Given the description of an element on the screen output the (x, y) to click on. 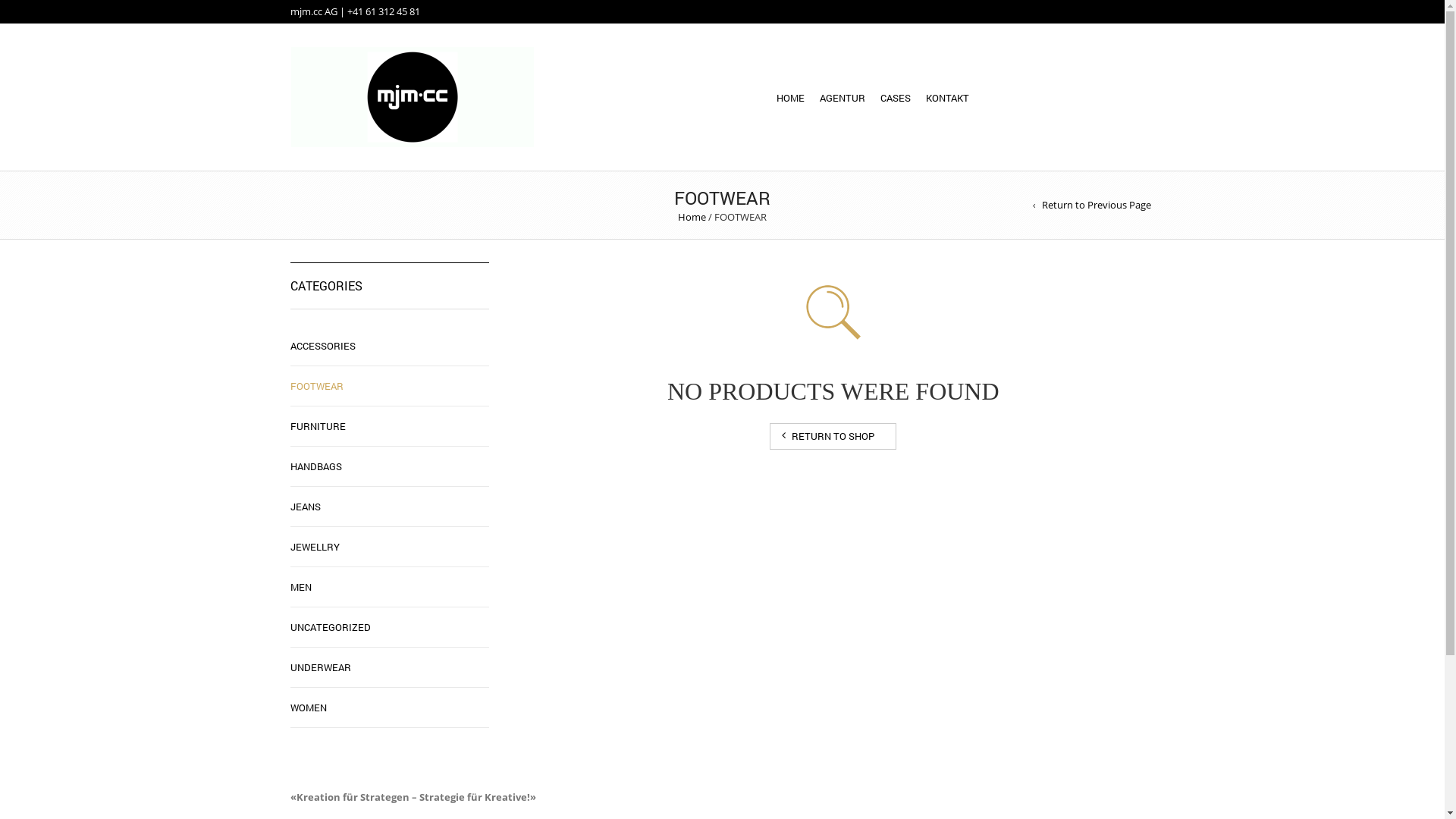
KONTAKT Element type: text (947, 101)
WOMEN Element type: text (307, 707)
RETURN TO SHOP Element type: text (832, 436)
UNDERWEAR Element type: text (319, 667)
JEANS Element type: text (304, 506)
Return to Previous Page Element type: text (1091, 204)
MEN Element type: text (299, 586)
ACCESSORIES Element type: text (321, 345)
Home Element type: text (691, 216)
JEWELLRY Element type: text (313, 546)
FOOTWEAR Element type: text (315, 385)
CASES Element type: text (895, 101)
HANDBAGS Element type: text (315, 466)
FURNITURE Element type: text (317, 425)
HOME Element type: text (790, 101)
UNCATEGORIZED Element type: text (329, 626)
AGENTUR Element type: text (842, 101)
